Given the description of an element on the screen output the (x, y) to click on. 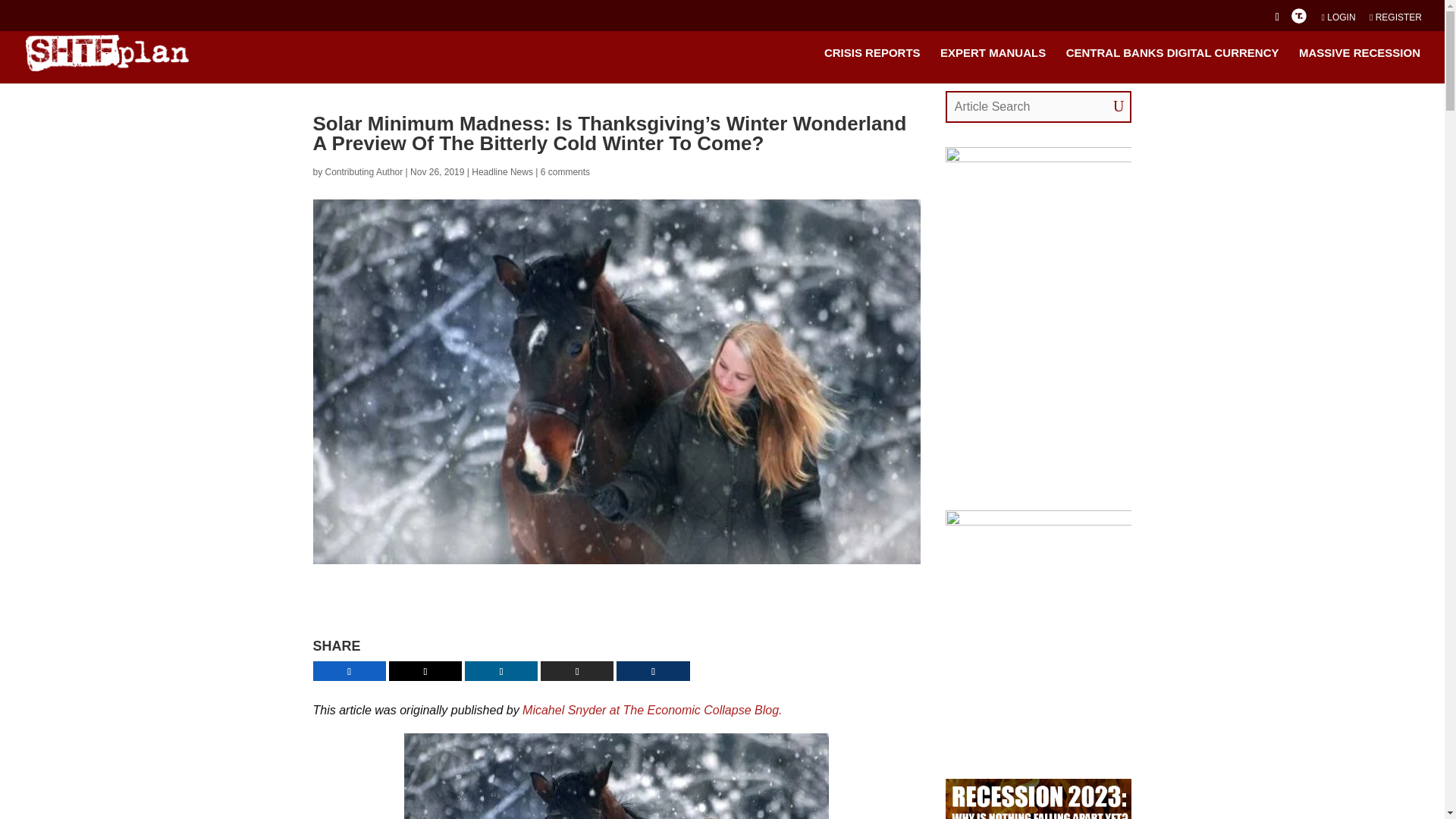
CRISIS REPORTS (872, 65)
Posts by Contributing Author (363, 172)
MASSIVE RECESSION (1359, 65)
Download Now! (766, 610)
6 comments (564, 172)
Micahel Snyder at The Economic Collapse Blog. (651, 709)
EXPERT MANUALS (992, 65)
LOGIN (1337, 20)
Headline News (501, 172)
Contributing Author (363, 172)
CENTRAL BANKS DIGITAL CURRENCY (1172, 65)
REGISTER (1396, 20)
